Given the description of an element on the screen output the (x, y) to click on. 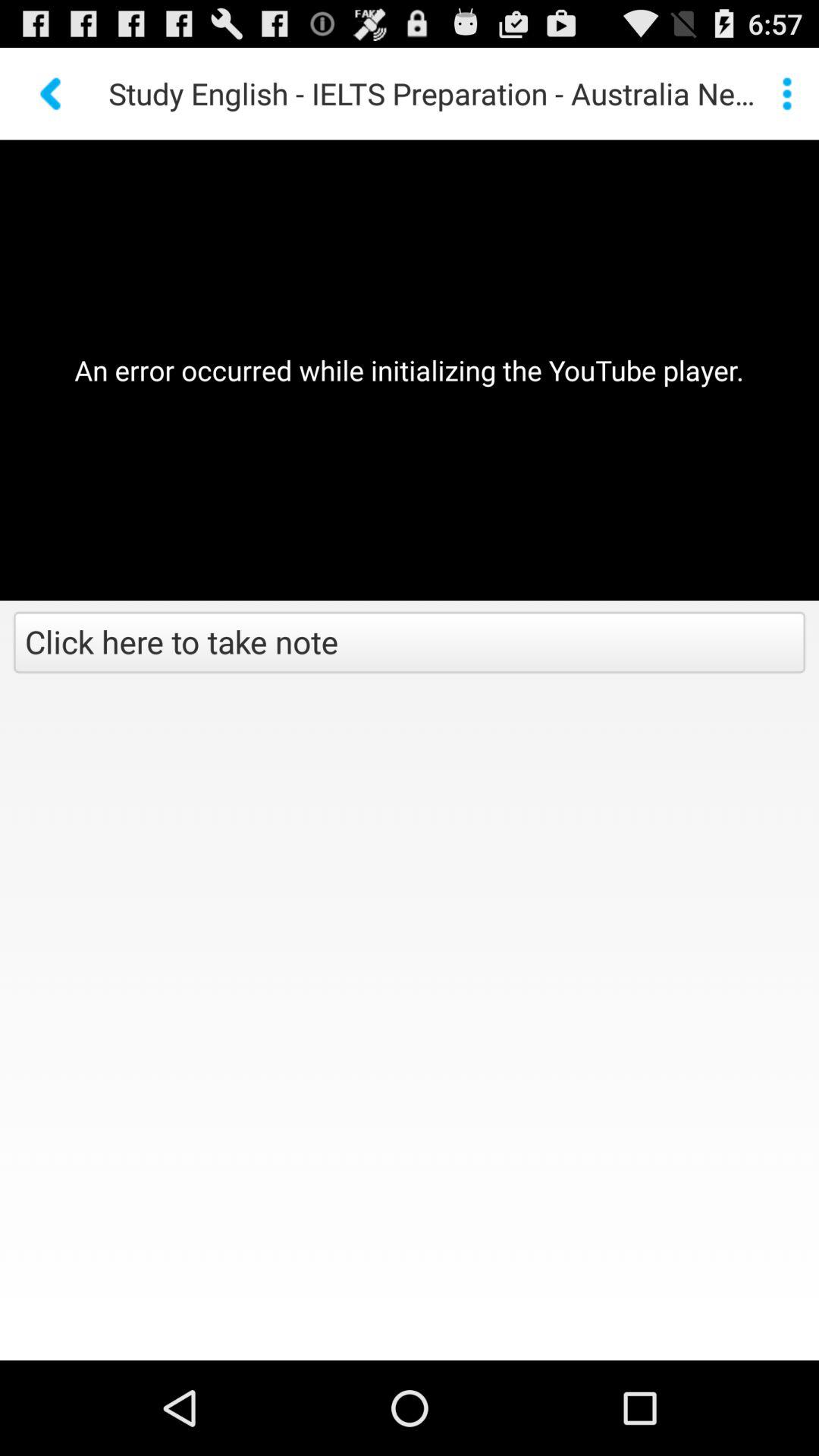
click the icon above an error occurred item (787, 93)
